Given the description of an element on the screen output the (x, y) to click on. 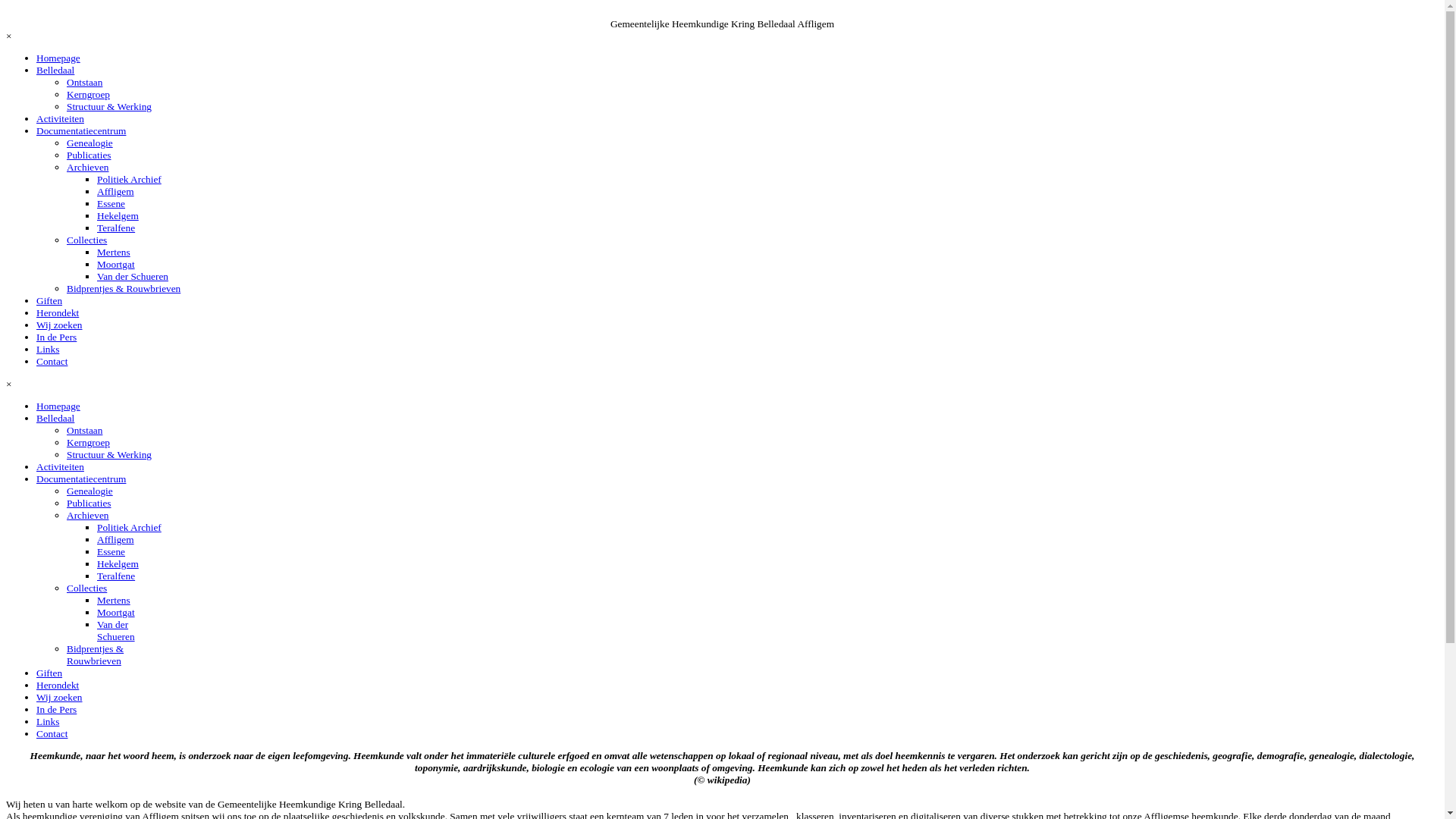
Politiek Archief Element type: text (129, 527)
Herondekt Element type: text (57, 684)
Publicaties Element type: text (88, 154)
Activiteiten Element type: text (60, 118)
Giften Element type: text (49, 672)
Archieven Element type: text (87, 166)
Mertens Element type: text (113, 251)
Politiek Archief Element type: text (129, 179)
Structuur & Werking Element type: text (108, 454)
Links Element type: text (47, 721)
Publicaties Element type: text (88, 502)
Hekelgem Element type: text (117, 563)
Mertens Element type: text (113, 599)
Moortgat Element type: text (115, 263)
Moortgat Element type: text (115, 612)
Contact Element type: text (51, 361)
Documentatiecentrum Element type: text (80, 130)
Wij zoeken Element type: text (59, 696)
Structuur & Werking Element type: text (108, 106)
Ontstaan Element type: text (84, 430)
In de Pers Element type: text (56, 336)
Genealogie Element type: text (89, 142)
Essene Element type: text (111, 203)
In de Pers Element type: text (56, 709)
Ontstaan Element type: text (84, 81)
Kerngroep Element type: text (87, 442)
Van der Schueren Element type: text (132, 276)
Archieven Element type: text (87, 514)
Documentatiecentrum Element type: text (80, 478)
Teralfene Element type: text (115, 227)
Activiteiten Element type: text (60, 466)
Belledaal Element type: text (55, 417)
Teralfene Element type: text (115, 575)
Belledaal Element type: text (55, 69)
Giften Element type: text (49, 300)
Homepage Element type: text (58, 405)
Collecties Element type: text (86, 587)
Affligem Element type: text (115, 191)
Kerngroep Element type: text (87, 94)
Essene Element type: text (111, 551)
Links Element type: text (47, 348)
Hekelgem Element type: text (117, 215)
Collecties Element type: text (86, 239)
Wij zoeken Element type: text (59, 324)
Bidprentjes & Rouwbrieven Element type: text (123, 288)
Van der Schueren Element type: text (115, 630)
Herondekt Element type: text (57, 312)
Affligem Element type: text (115, 539)
Genealogie Element type: text (89, 490)
Bidprentjes & Rouwbrieven Element type: text (94, 654)
Homepage Element type: text (58, 57)
Contact Element type: text (51, 733)
